Given the description of an element on the screen output the (x, y) to click on. 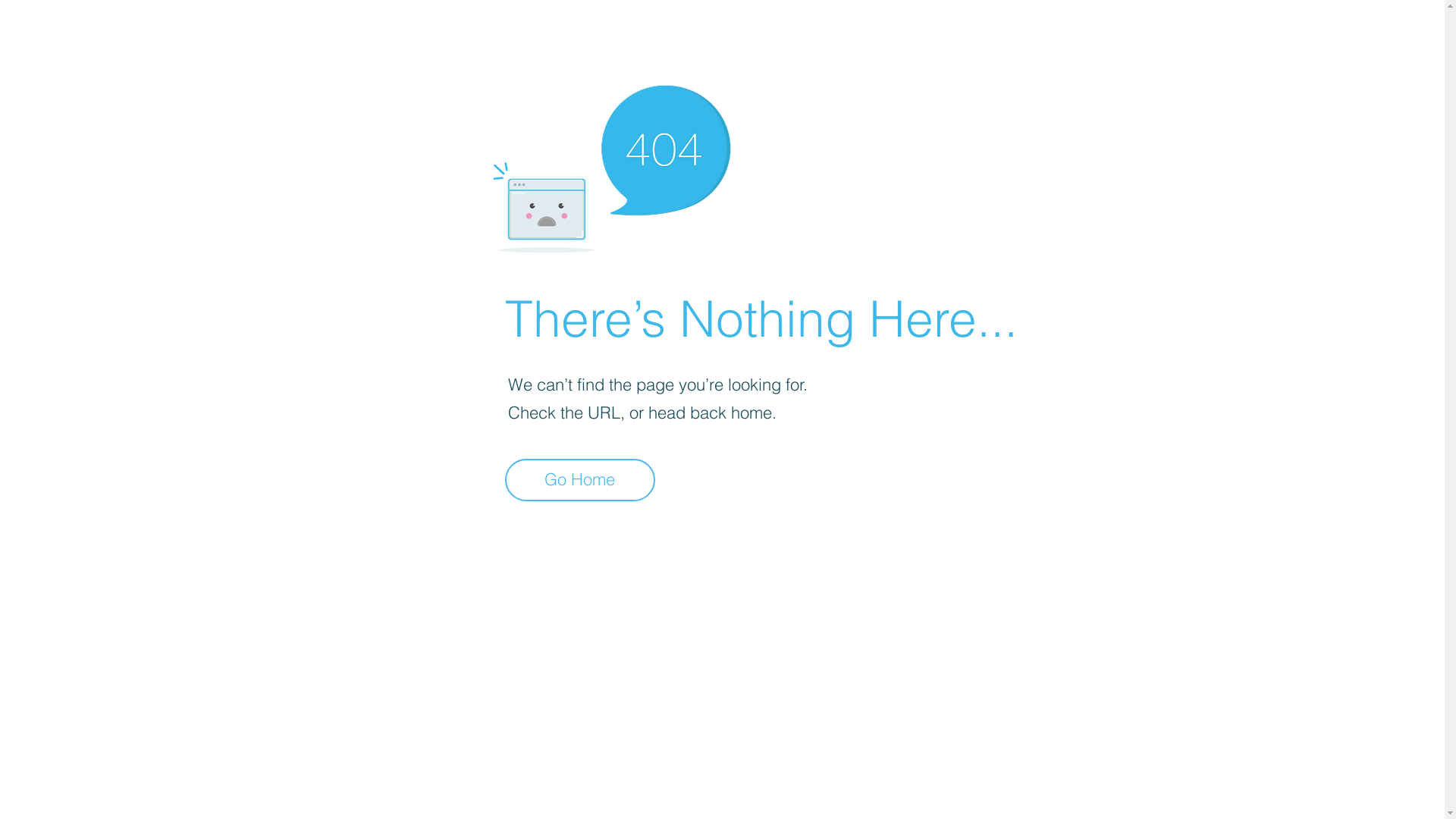
404-icon_2.png Element type: hover (610, 164)
Go Home Element type: text (580, 479)
